Given the description of an element on the screen output the (x, y) to click on. 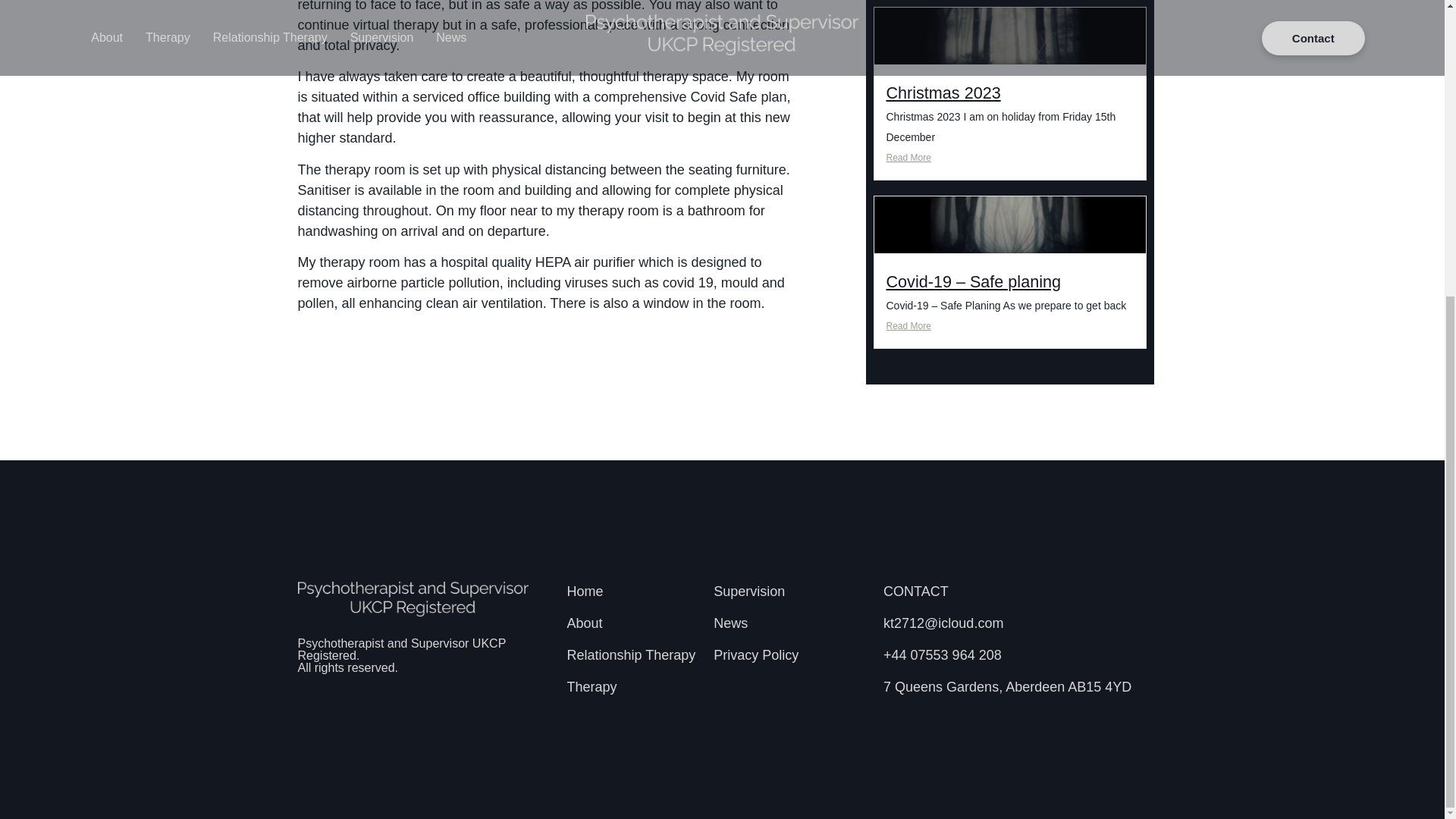
CONTACT (1015, 591)
Supervision (790, 591)
Christmas 2023 (942, 92)
Read More (1009, 158)
Therapy (632, 687)
News (790, 623)
Privacy Policy (790, 655)
About (632, 623)
Christmas 2023 (942, 92)
Read More (1009, 326)
Relationship Therapy (632, 655)
Home (632, 591)
